Given the description of an element on the screen output the (x, y) to click on. 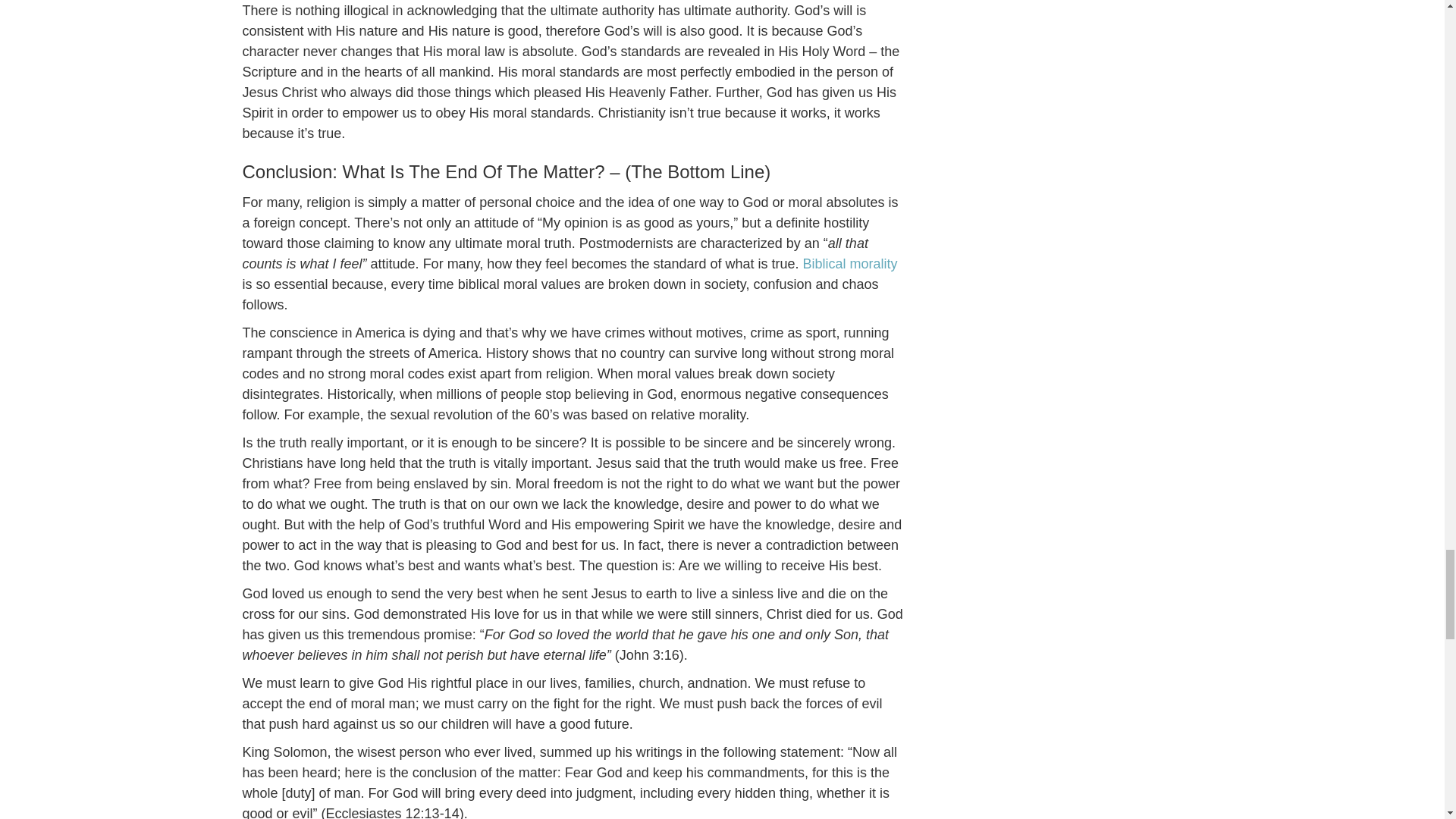
Biblical morality (850, 263)
